Given the description of an element on the screen output the (x, y) to click on. 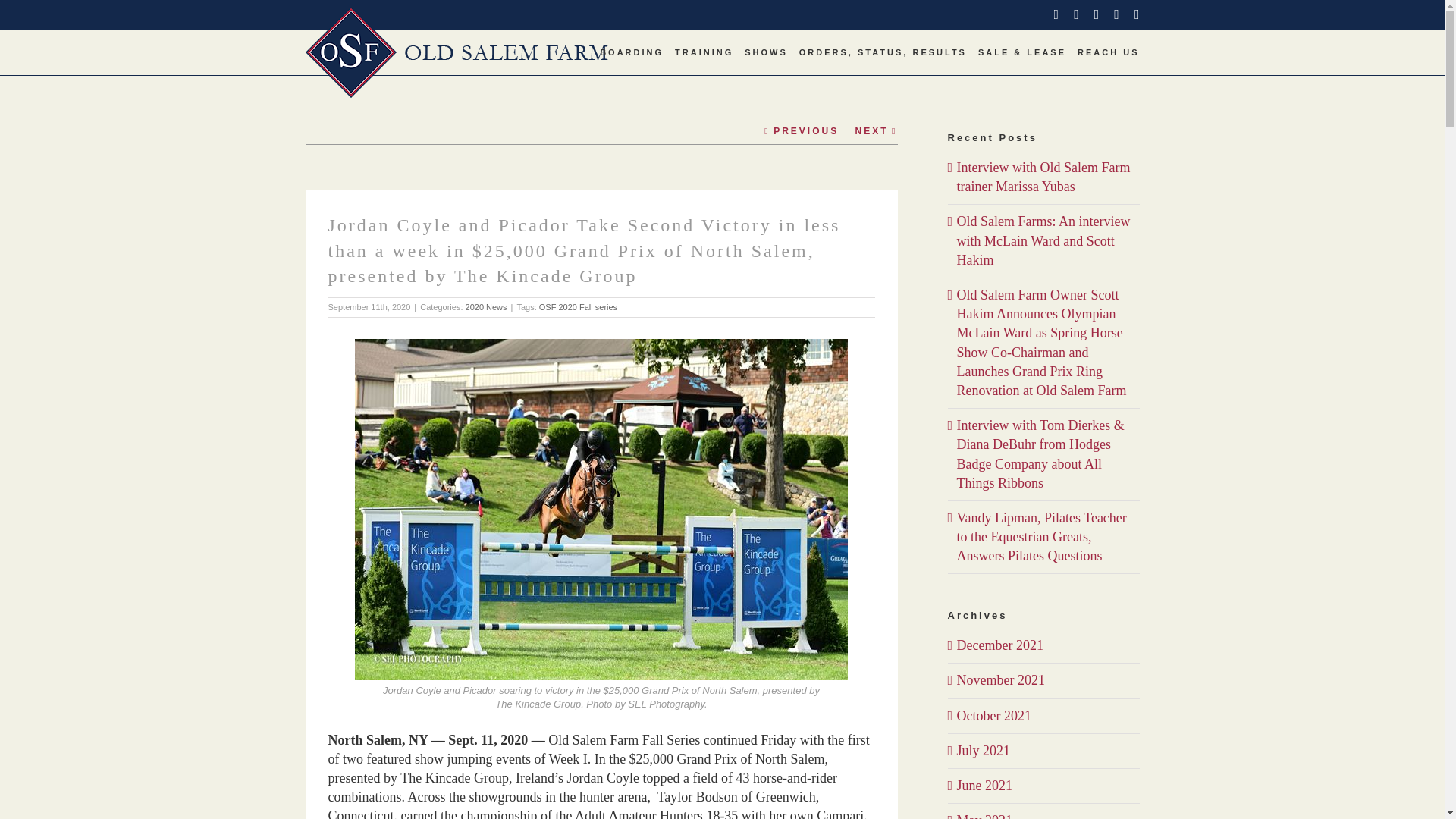
TRAINING (704, 52)
OSF 2020 Fall series (577, 307)
NEXT (871, 130)
PREVIOUS (805, 130)
SHOWS (765, 52)
December 2021 (999, 645)
BOARDING (631, 52)
Interview with Old Salem Farm trainer Marissa Yubas (1043, 176)
2020 News (485, 307)
ORDERS, STATUS, RESULTS (882, 52)
REACH US (1107, 52)
